Given the description of an element on the screen output the (x, y) to click on. 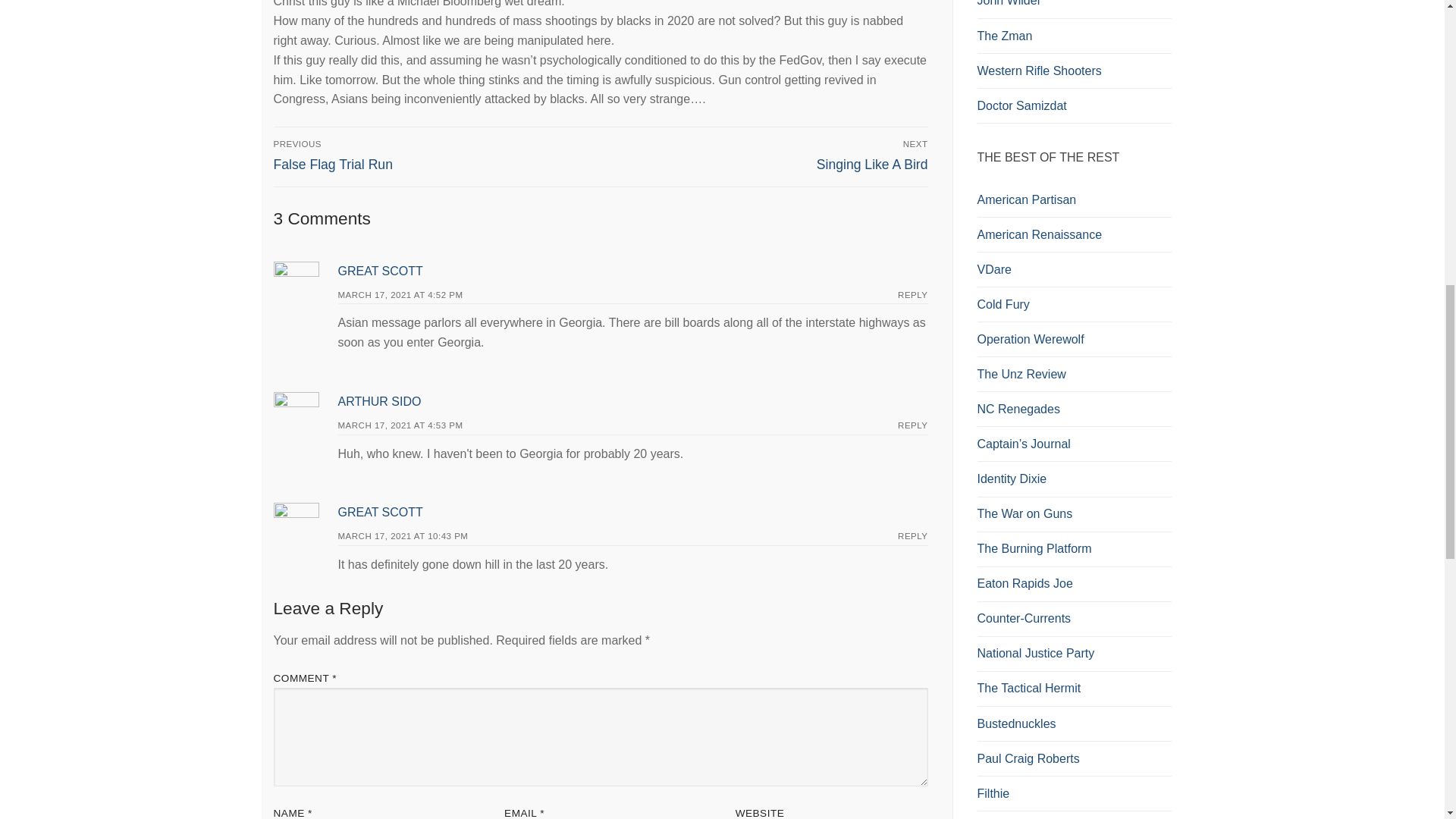
MARCH 17, 2021 AT 10:43 PM (402, 535)
GREAT SCOTT (380, 270)
MARCH 17, 2021 AT 4:52 PM (433, 155)
GREAT SCOTT (400, 293)
The Zman (767, 155)
Doctor Samizdat (380, 512)
John Wilder (1073, 36)
Western Rifle Shooters (1073, 105)
